Given the description of an element on the screen output the (x, y) to click on. 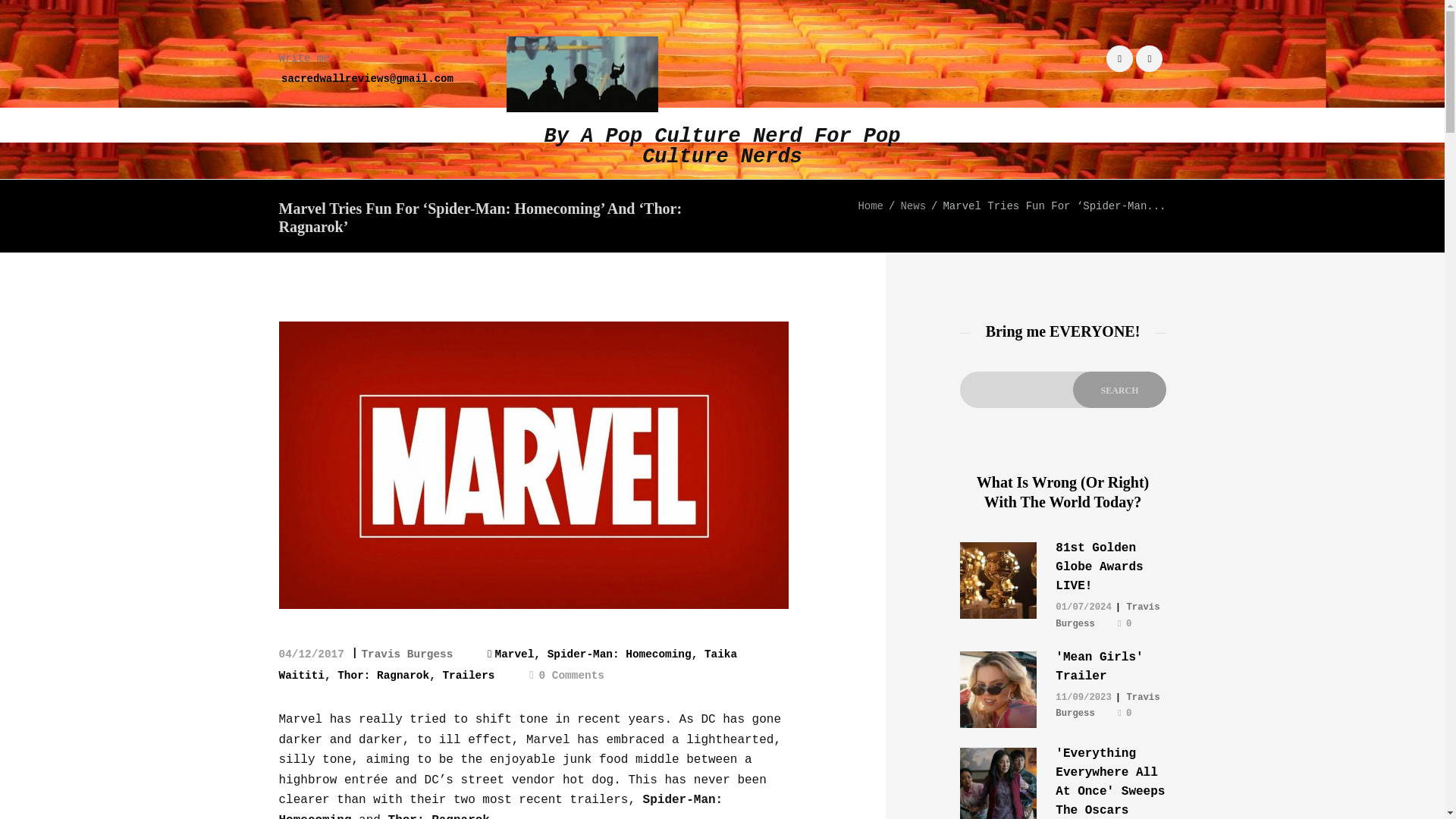
By A Pop Culture Nerd For Pop Culture Nerds (722, 101)
Search for: (1062, 389)
Comments - 0 (566, 674)
